Given the description of an element on the screen output the (x, y) to click on. 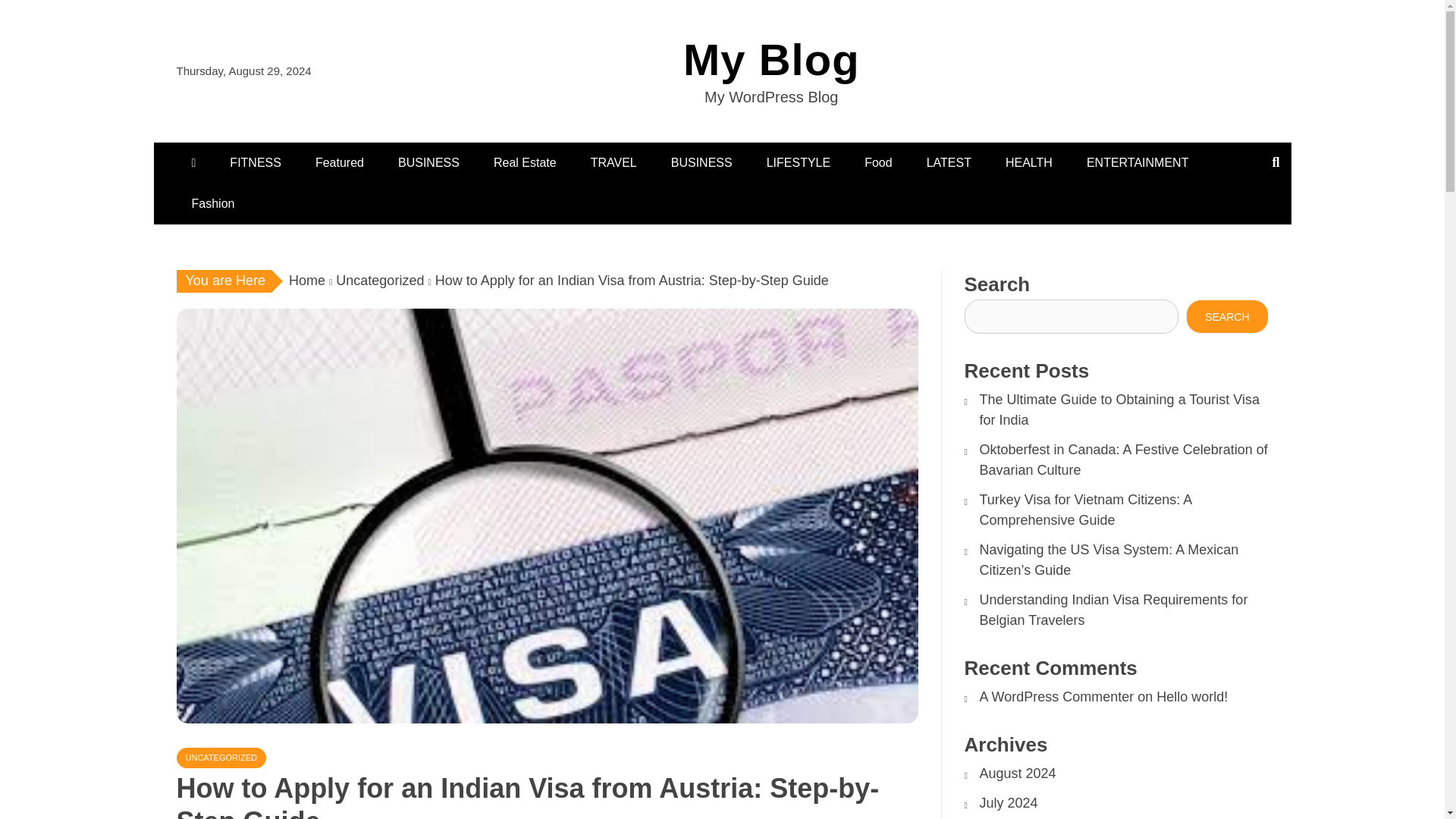
LIFESTYLE (798, 162)
BUSINESS (428, 162)
HEALTH (1028, 162)
Uncategorized (379, 280)
My Blog (771, 59)
TRAVEL (613, 162)
LATEST (949, 162)
Fashion (212, 203)
BUSINESS (702, 162)
Food (877, 162)
